Given the description of an element on the screen output the (x, y) to click on. 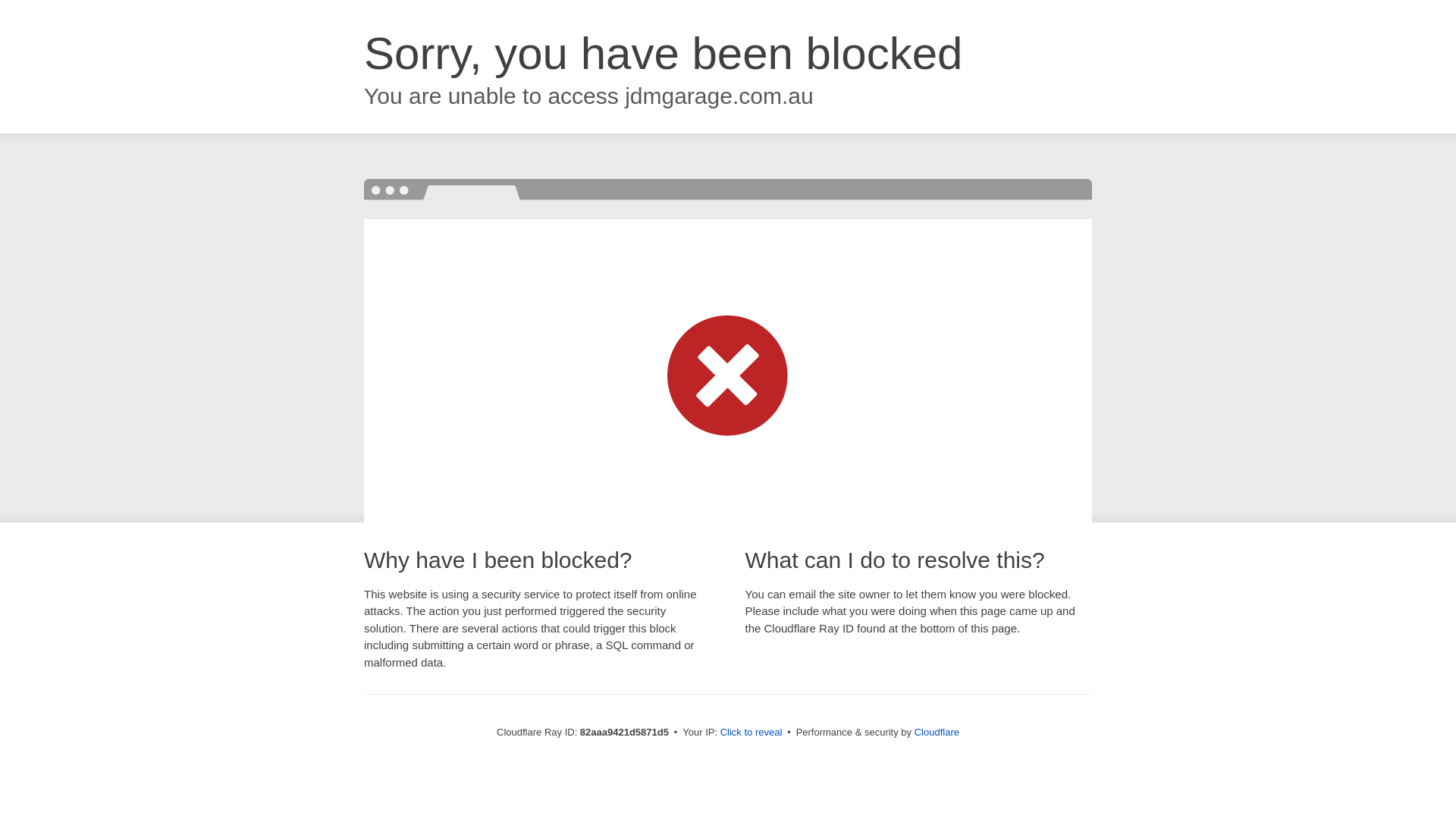
Click to reveal Element type: text (751, 732)
Cloudflare Element type: text (936, 731)
